Given the description of an element on the screen output the (x, y) to click on. 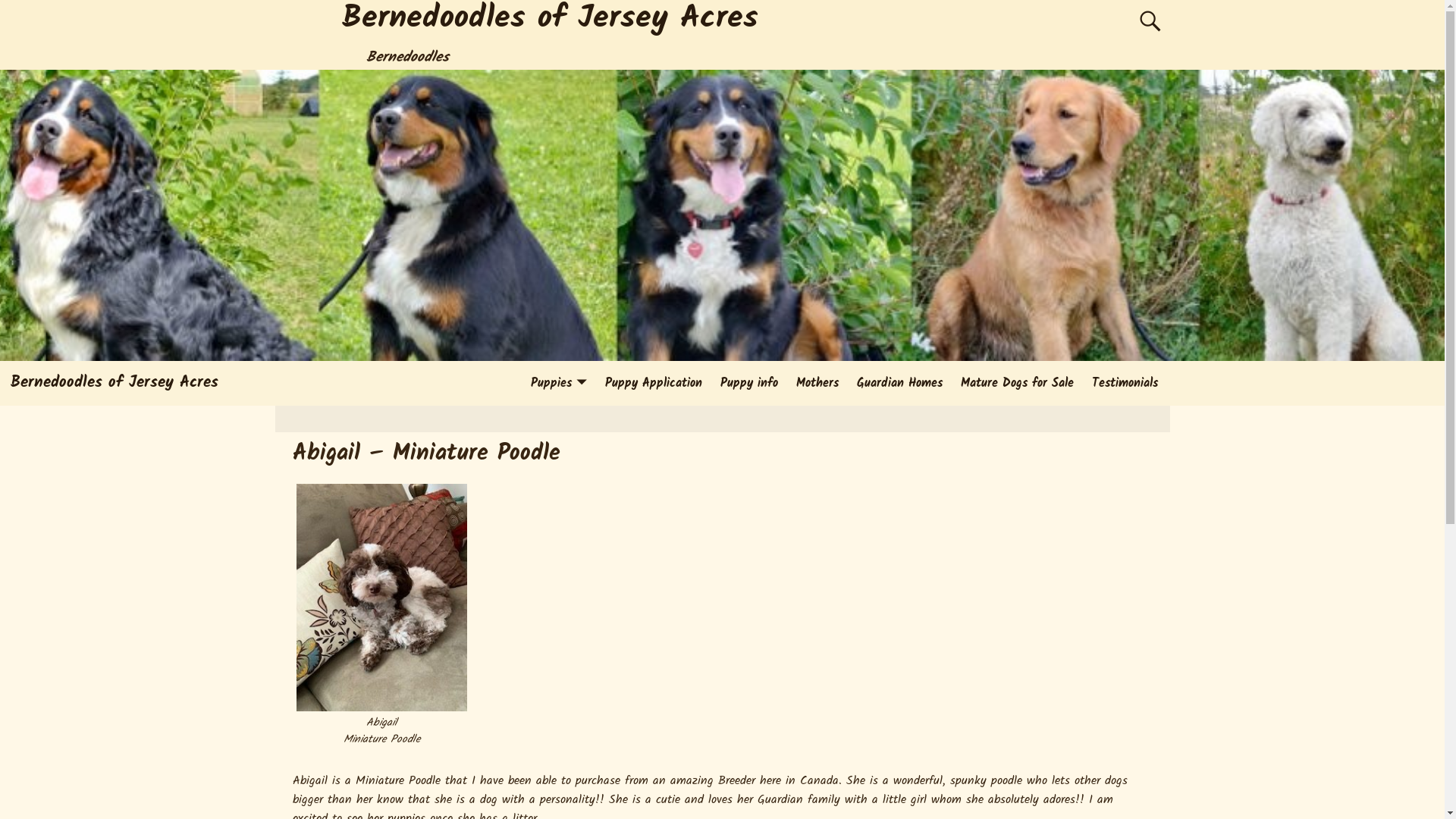
Puppy Application Element type: text (653, 383)
Puppies Element type: text (558, 383)
Bernedoodles of Jersey Acres Element type: text (114, 382)
Testimonials Element type: text (1124, 383)
Guardian Homes Element type: text (899, 383)
Mothers Element type: text (817, 383)
Mature Dogs for Sale Element type: text (1016, 383)
Puppy info Element type: text (749, 383)
